Given the description of an element on the screen output the (x, y) to click on. 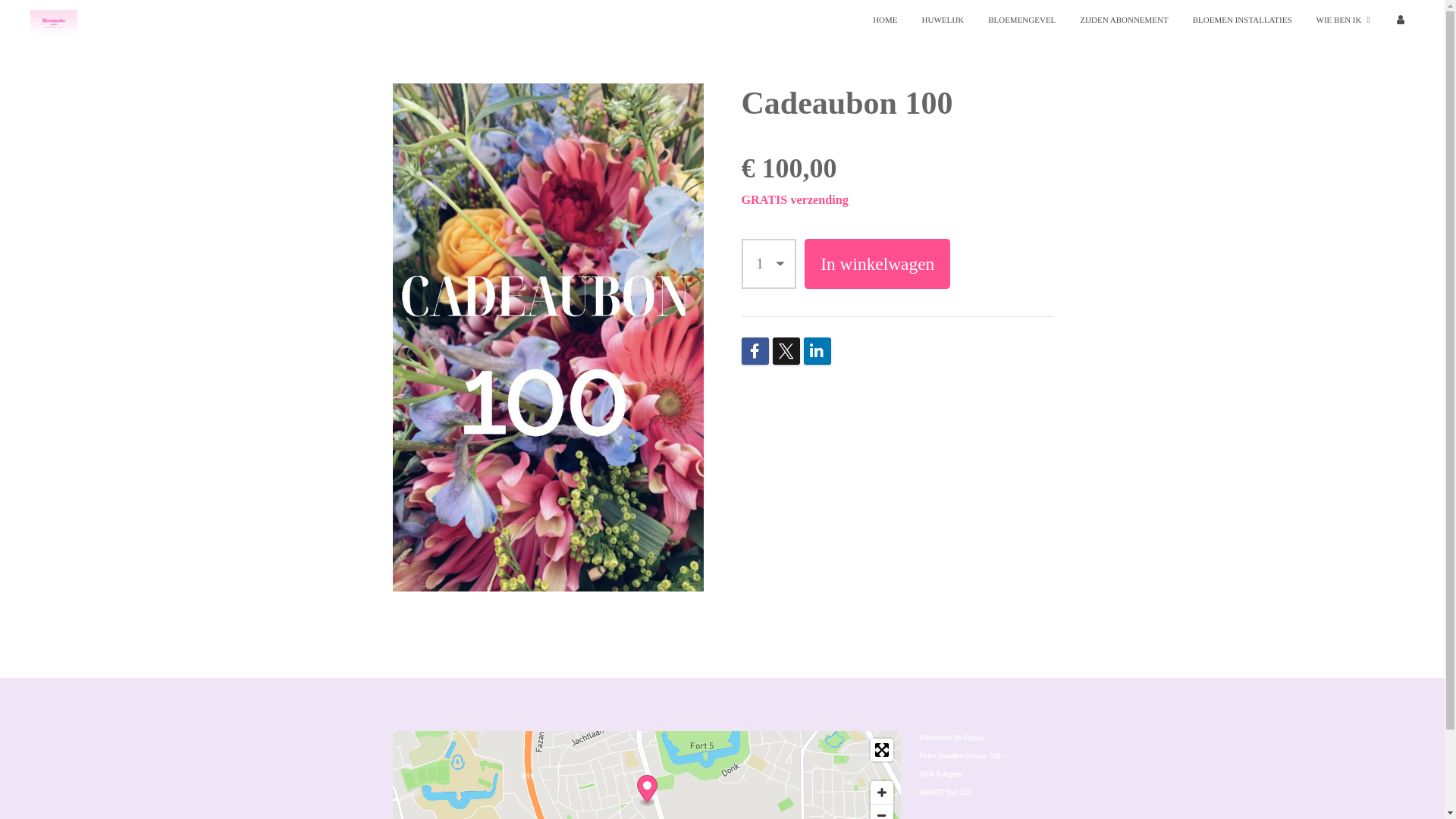
HUWELIJK Element type: text (942, 19)
WIE BEN IK Element type: text (1343, 19)
HOME Element type: text (884, 19)
In winkelwagen Element type: text (877, 263)
ZIJDEN ABONNEMENT Element type: text (1123, 19)
BLOEMENGEVEL Element type: text (1021, 19)
BLOEMEN INSTALLATIES Element type: text (1242, 19)
Account Element type: hover (1400, 19)
Bloomette by djura Element type: hover (53, 22)
